Given the description of an element on the screen output the (x, y) to click on. 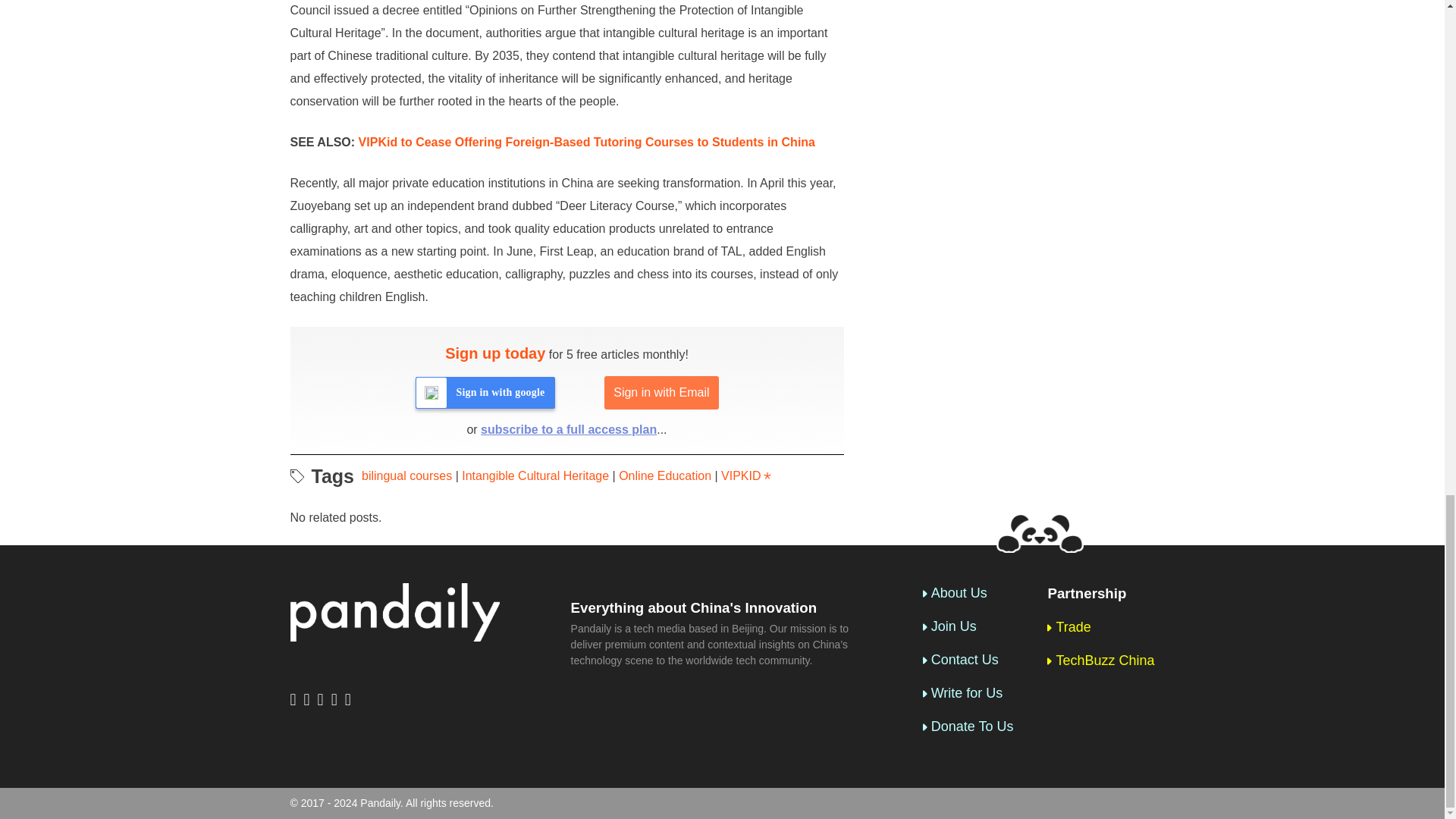
subscribe to a full access plan (568, 429)
Sign in with Email (660, 392)
